Given the description of an element on the screen output the (x, y) to click on. 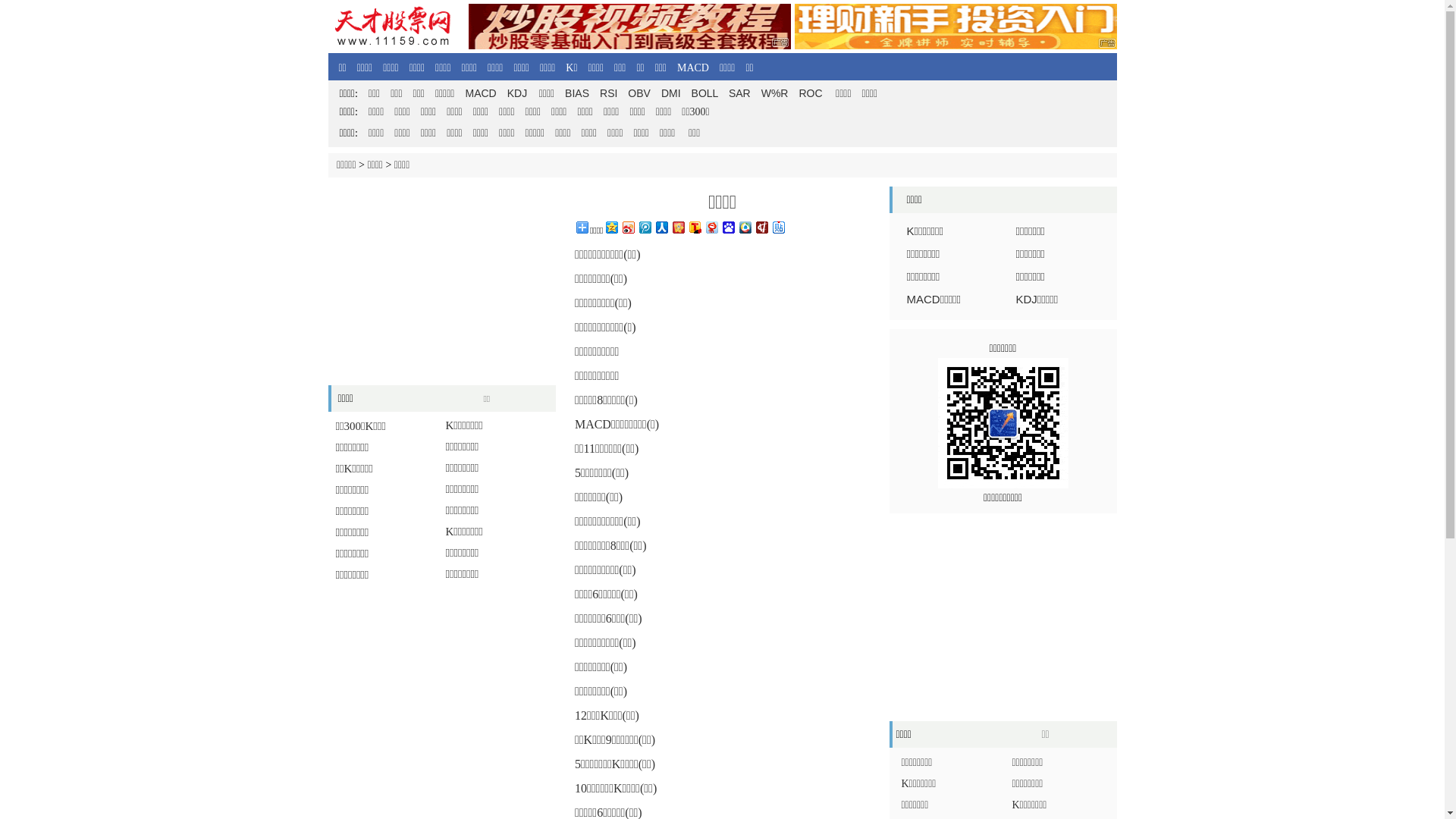
DMI Element type: text (670, 92)
RSI Element type: text (608, 92)
MACD Element type: text (693, 67)
BOLL Element type: text (704, 92)
W%R Element type: text (774, 92)
Advertisement Element type: hover (1002, 617)
Advertisement Element type: hover (441, 689)
OBV Element type: text (638, 92)
BIAS Element type: text (576, 92)
Advertisement Element type: hover (441, 281)
MACD Element type: text (479, 92)
SAR Element type: text (739, 92)
KDJ Element type: text (517, 92)
ROC Element type: text (810, 92)
